Given the description of an element on the screen output the (x, y) to click on. 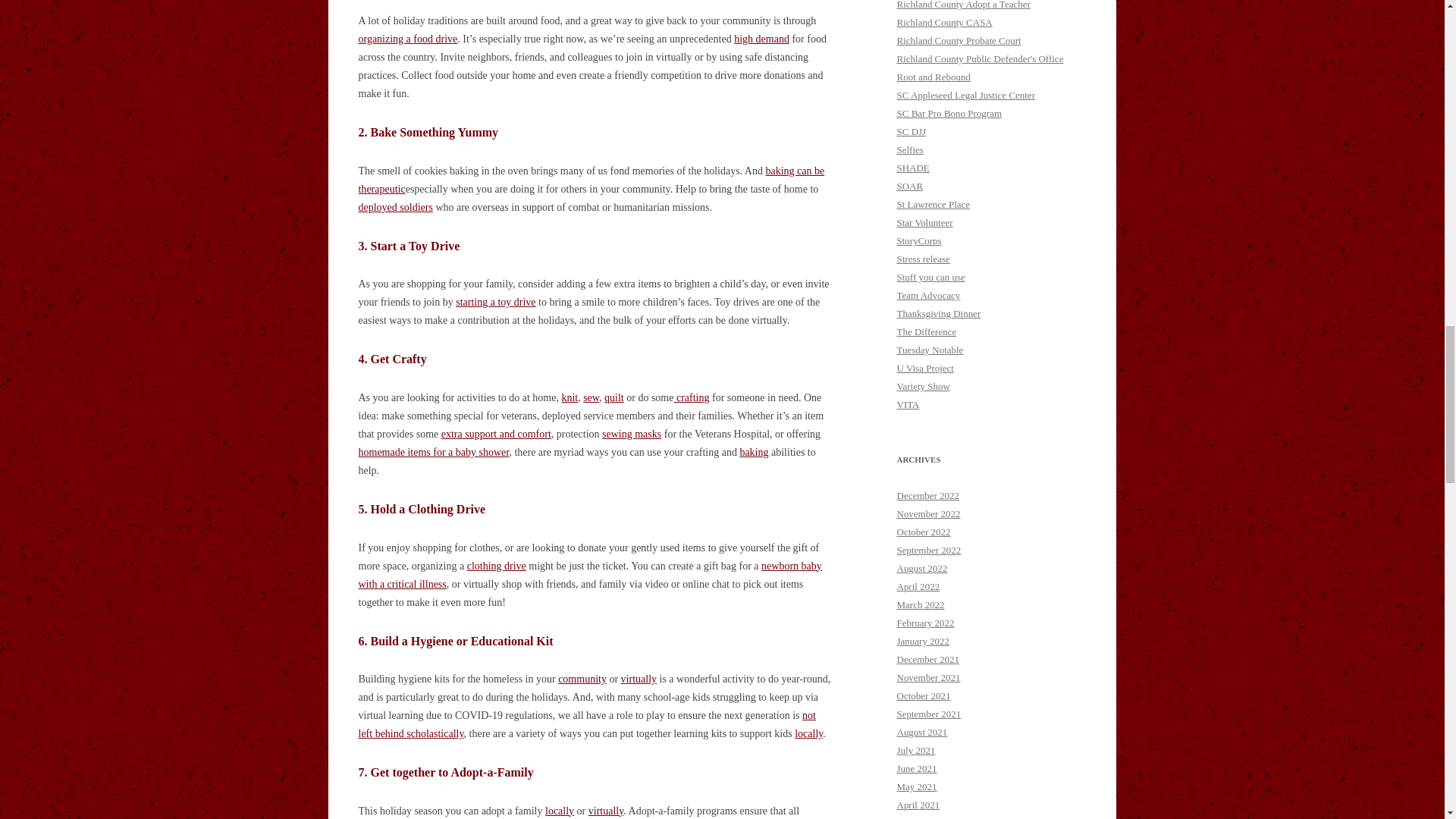
high demand (761, 39)
deployed soldiers (395, 206)
organizing a food drive (407, 39)
crafting (690, 397)
baking can be therapeutic (591, 179)
knit (569, 397)
extra support and comfort (496, 433)
starting a toy drive (495, 301)
sew (590, 397)
quilt (614, 397)
